Given the description of an element on the screen output the (x, y) to click on. 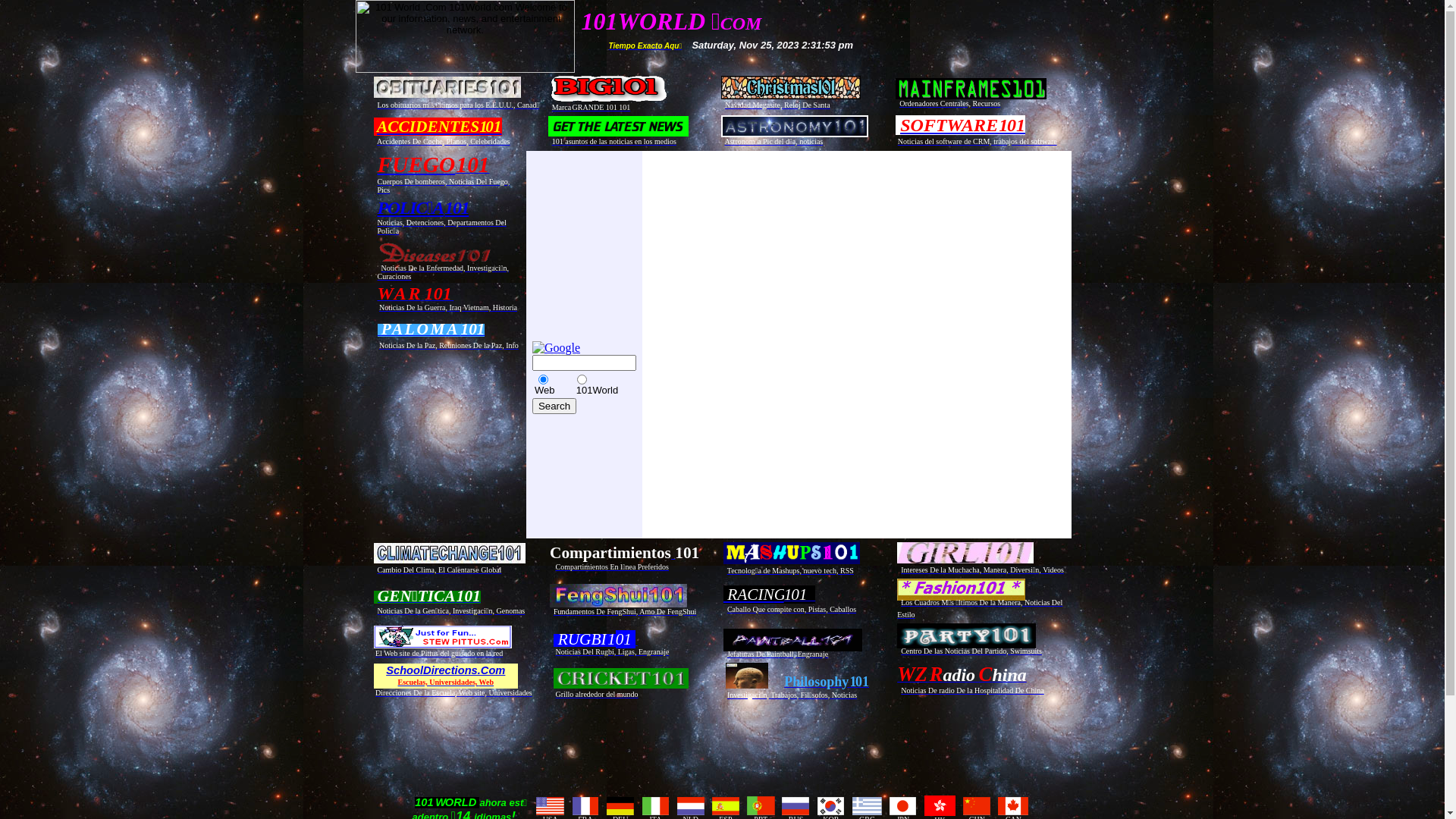
Noticias del software de CRM, trabajos del software Element type: text (977, 139)
101 Element type: text (686, 553)
  101 Element type: text (797, 595)
 PALOMA 101 Element type: text (431, 329)
Noticias De la Paz, Reuniones De la Paz, Info Element type: text (448, 345)
  Element type: text (636, 641)
101 Element type: text (456, 207)
Caballo Que compite con, Pistas, Caballos Element type: text (791, 609)
WZ Element type: text (912, 676)
101 asuntos de las noticias en los medios Element type: text (614, 141)
SOFTWARE 101 Element type: text (962, 124)
Escuelas, Universidades, Element type: text (438, 681)
Grillo alrededor del mundo Element type: text (596, 694)
Search Element type: text (554, 406)
 RUGBI Element type: text (579, 639)
Cuerpos De bomberos, Noticias Del Fuego, Pics Element type: text (443, 185)
Cambio Del Clima, El Calentarse Global Element type: text (439, 567)
Direcciones De la Escuela, Web site, Universidades Element type: text (453, 692)
Jefaturas De Paintball, Engranaje Element type: text (777, 653)
101 Element type: text (490, 125)
Advertisement Element type: hover (724, 739)
El Web site de Pittus del guisado en la red Element type: text (438, 653)
Fundamentos De FengShui, Amo De FengShui Element type: text (624, 610)
  Element type: text (813, 595)
Marca GRANDE 101 101 Element type: text (591, 105)
R Element type: text (936, 676)
Advertisement Element type: hover (759, 439)
Noticias Del Rugbi, Ligas, Engranaje Element type: text (611, 651)
Advertisement Element type: hover (746, 247)
FUEGO Element type: text (416, 164)
Navidad Megasite, Reloj De Santa Element type: text (777, 104)
  Element type: text (423, 294)
  Element type: text (452, 296)
Noticias De la Guerra, Iraq Vietnam, Historia Element type: text (448, 307)
101 Element type: text (621, 639)
Compartimientos Element type: text (610, 553)
101 Element type: text (437, 294)
ACCIDENTES Element type: text (427, 125)
Ordenadores Centrales, Recursos Element type: text (949, 101)
SchoolDirections.Com Element type: text (445, 670)
adio Element type: text (958, 676)
Web Element type: text (486, 680)
Accidentes De Coche, Planos, Celebridades Element type: text (443, 140)
101 Element type: text (859, 680)
101 Element type: text (472, 167)
Philosophy Element type: text (816, 680)
WAR Element type: text (398, 294)
China Element type: text (1000, 676)
Noticias De radio De la Hospitalidad De China Element type: text (972, 690)
  Element type: text (848, 680)
Centro De las Noticias Del Partido, Swimsuits Element type: text (970, 650)
 RACING Element type: text (753, 594)
Advertisement Element type: hover (575, 303)
